Given the description of an element on the screen output the (x, y) to click on. 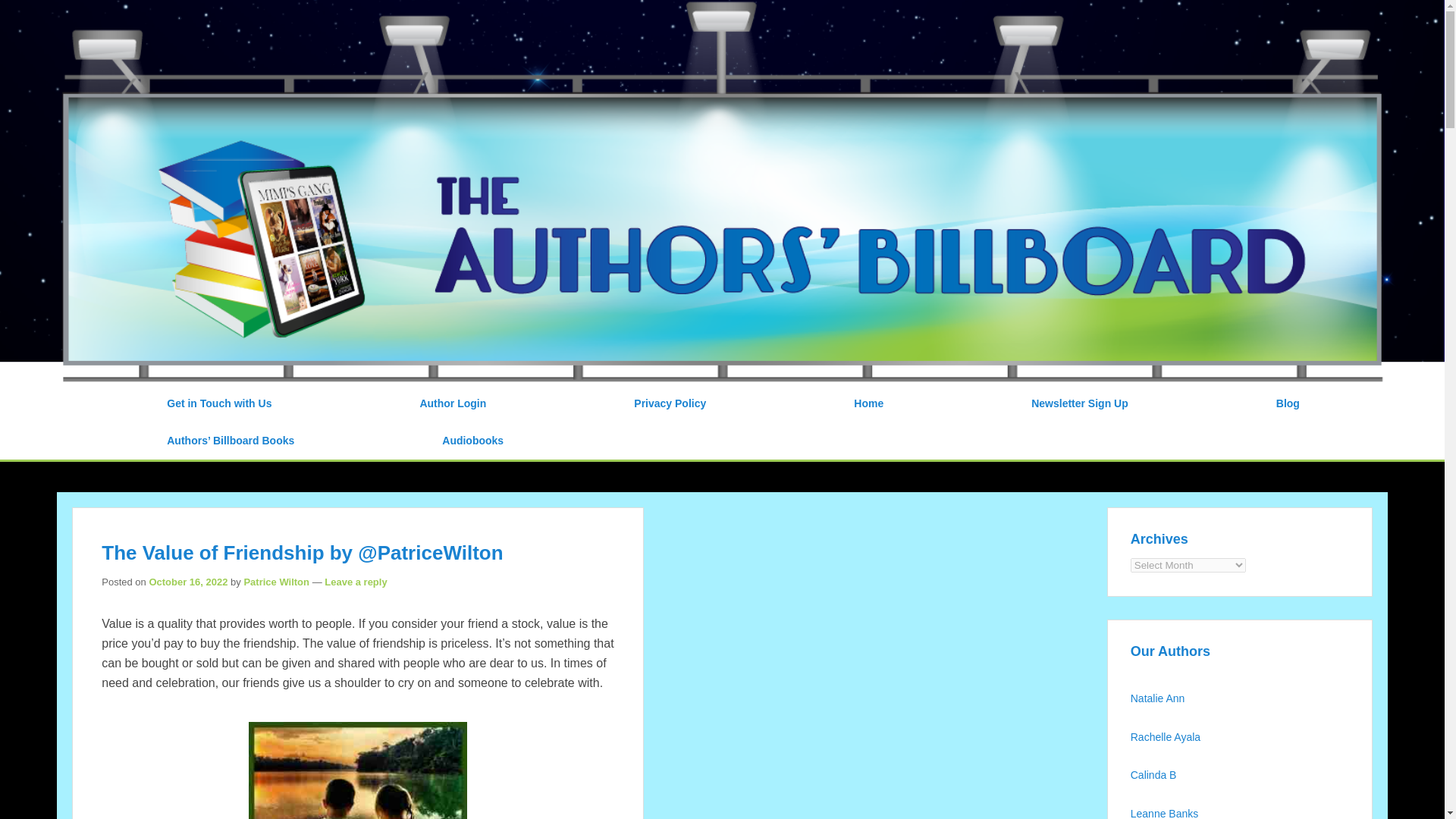
Home (868, 403)
The Authors' Billboard (258, 19)
The Authors' Billboard (258, 19)
Leave a reply (355, 582)
Patrice Wilton (275, 582)
Audiobooks (472, 440)
Get in Touch with Us (218, 403)
View all posts by Patrice Wilton (275, 582)
October 16, 2022 (187, 582)
Author Login (452, 403)
